Given the description of an element on the screen output the (x, y) to click on. 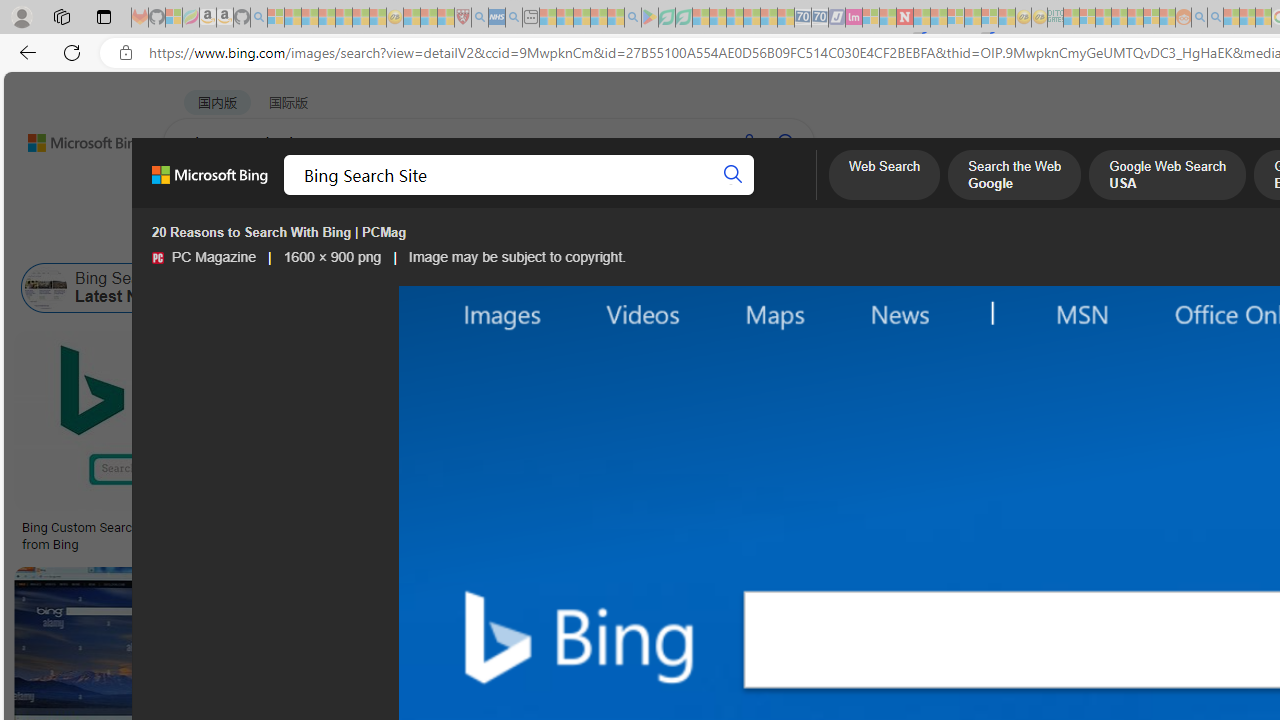
Image result for Bing Search Site (1095, 421)
Bing Search Latest News (105, 287)
Show Bing Search Engine (811, 287)
Bing Search Terms (1025, 287)
Color (305, 237)
Type (372, 237)
Terms of Use Agreement - Sleeping (666, 17)
Date (591, 237)
Microsoft Bing, Back to Bing search (209, 183)
